Given the description of an element on the screen output the (x, y) to click on. 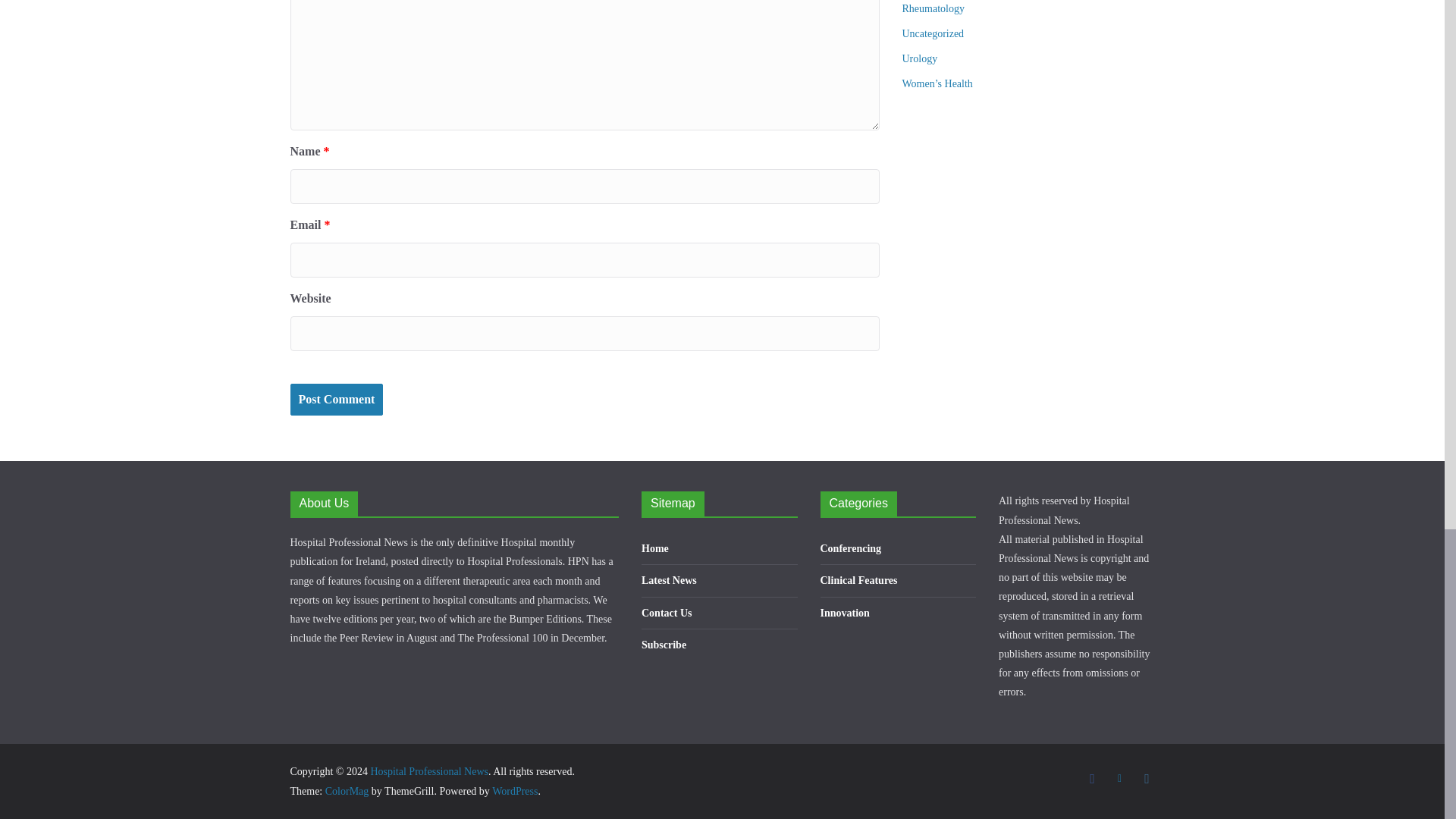
Hospital Professional News (428, 771)
Post Comment (335, 400)
WordPress (514, 790)
ColorMag (346, 790)
